Given the description of an element on the screen output the (x, y) to click on. 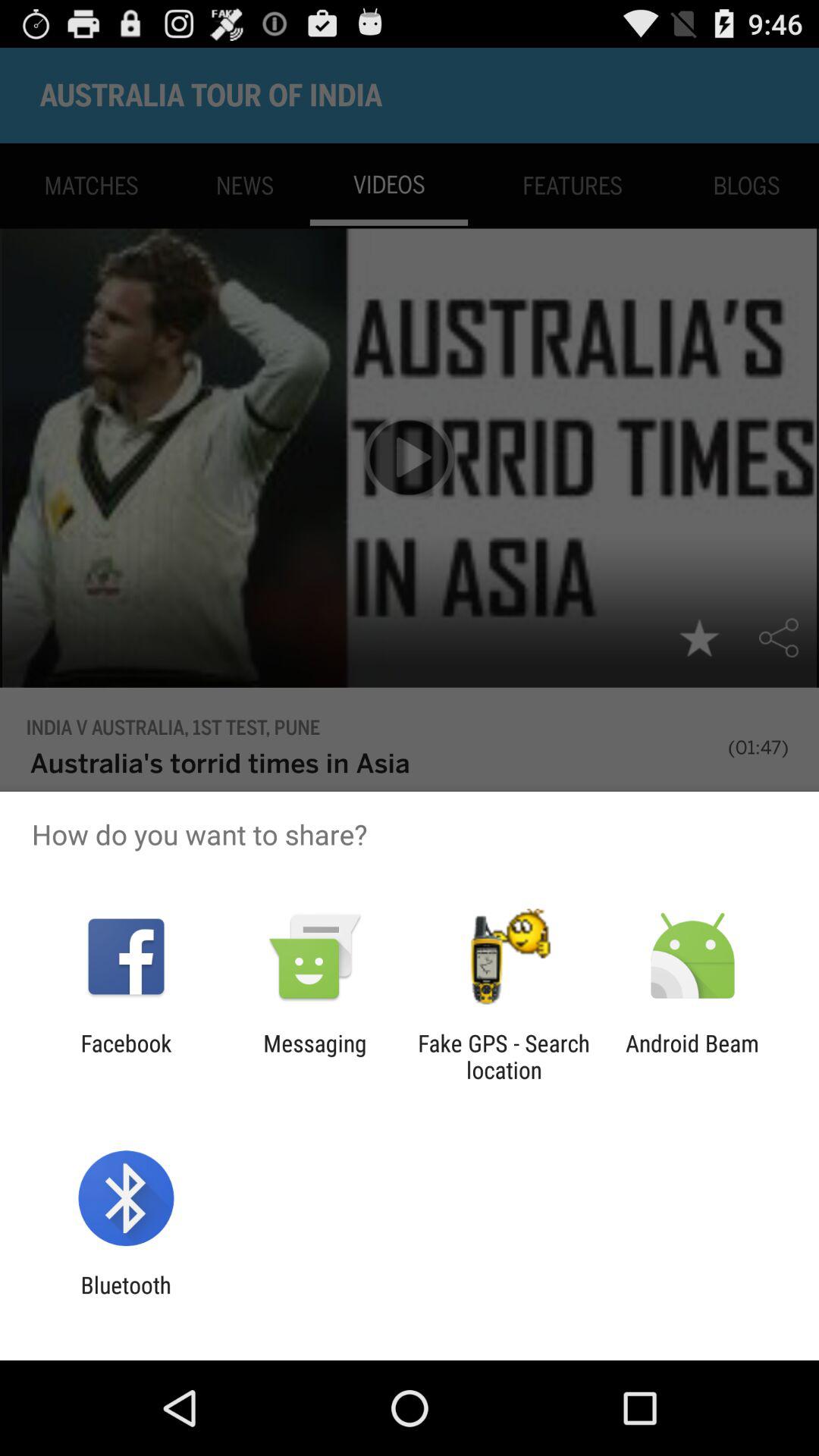
click app next to messaging (503, 1056)
